Given the description of an element on the screen output the (x, y) to click on. 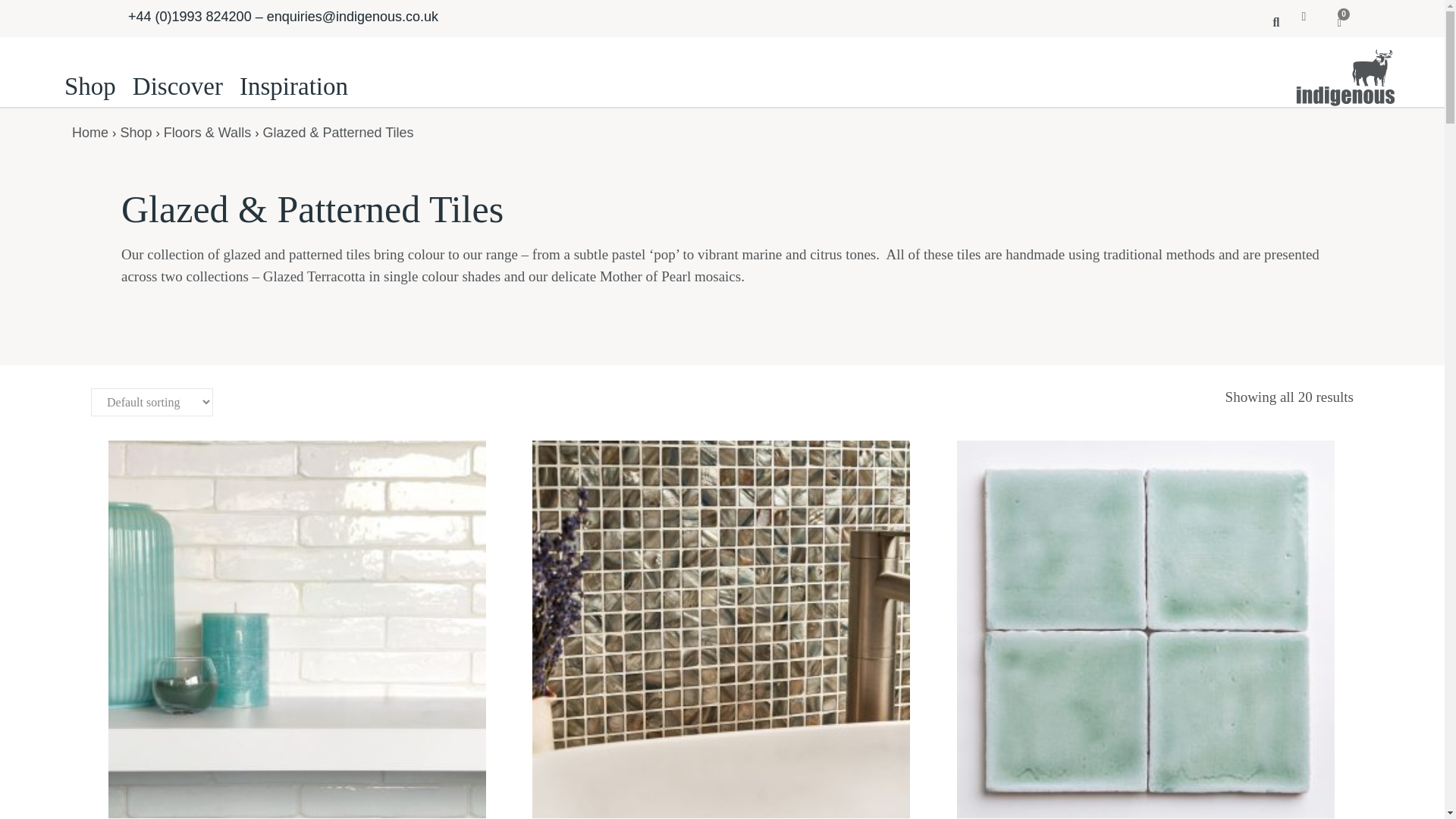
Search (1270, 22)
Shop (135, 132)
Home (89, 132)
